Given the description of an element on the screen output the (x, y) to click on. 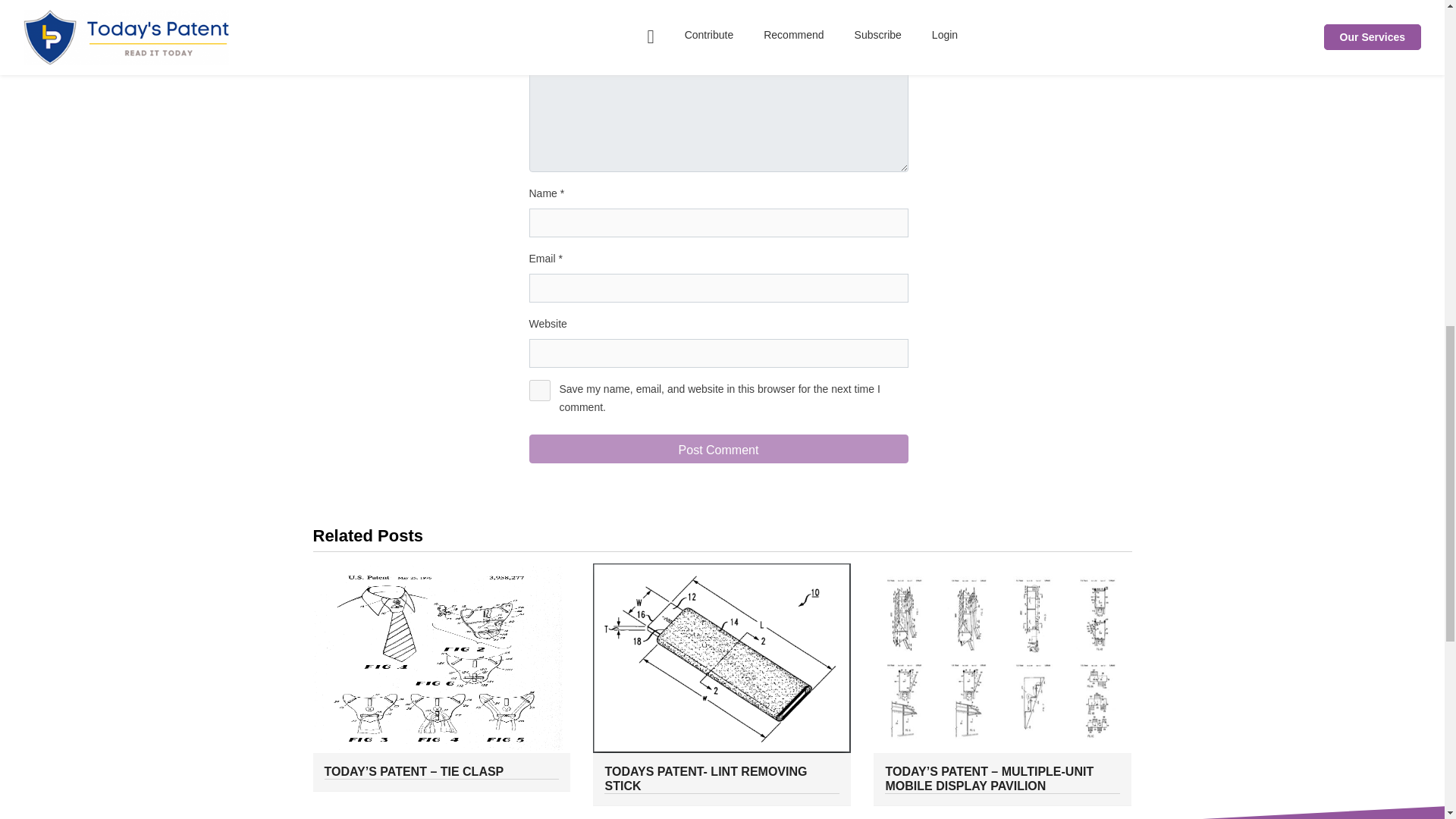
yes (539, 390)
Post Comment (718, 448)
TODAYS PATENT- LINT REMOVING STICK (722, 778)
Post Comment (718, 448)
